Given the description of an element on the screen output the (x, y) to click on. 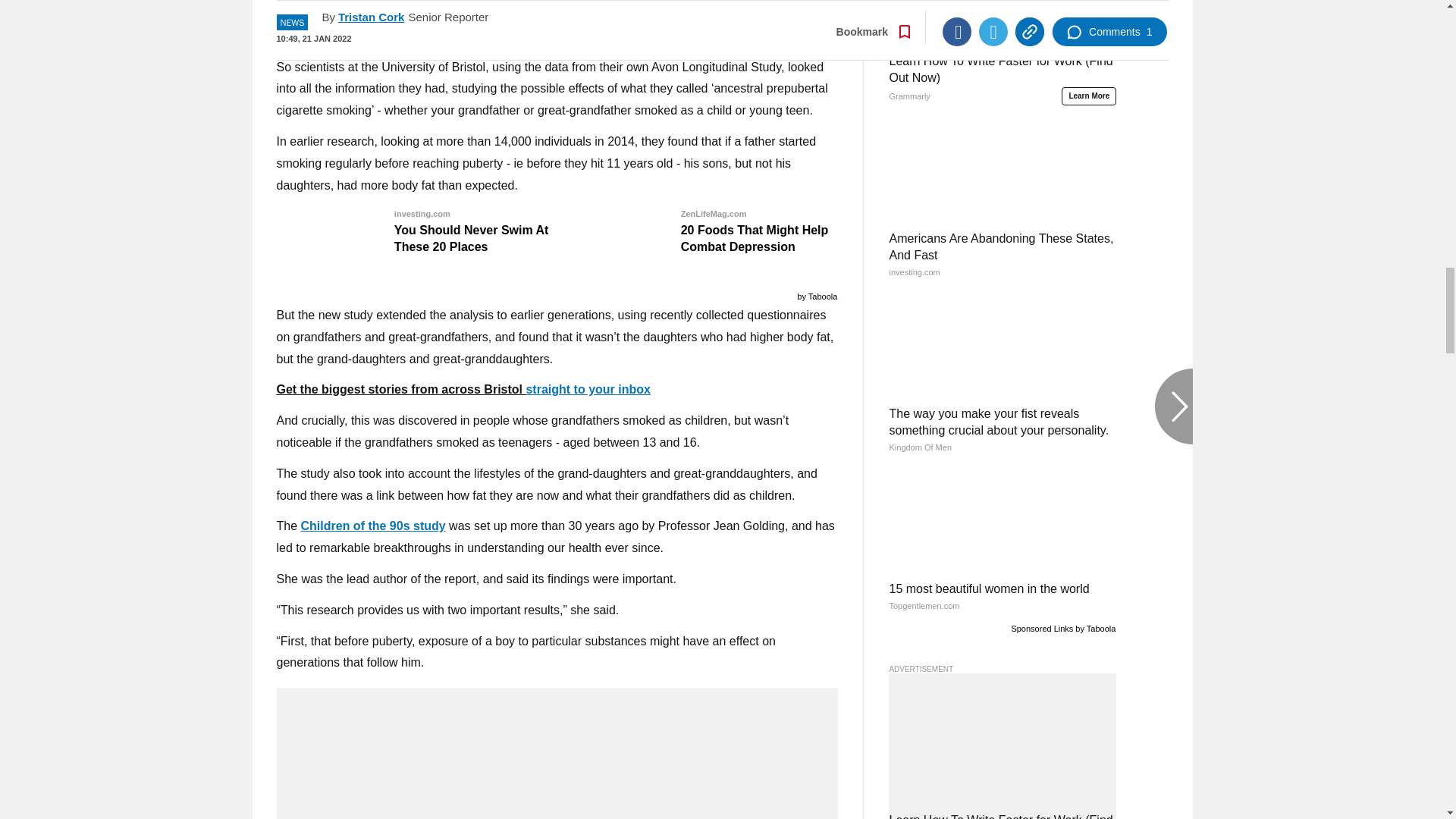
Clear, Compelling Writing in Seconds With This Desktop App (557, 14)
